Given the description of an element on the screen output the (x, y) to click on. 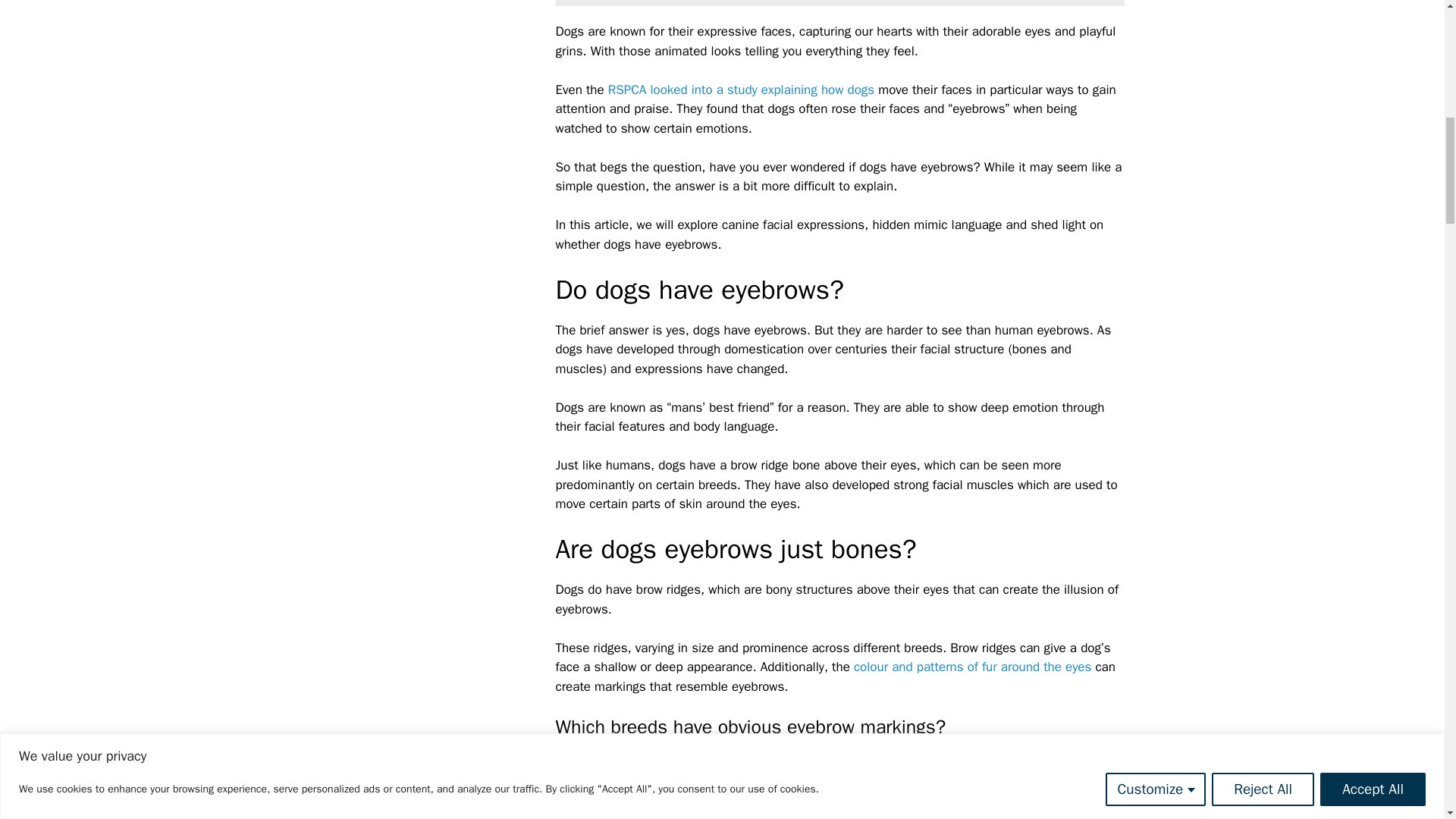
colour and patterns of fur around the eyes (973, 666)
RSPCA looked into a study explaining how dogs (741, 89)
